Given the description of an element on the screen output the (x, y) to click on. 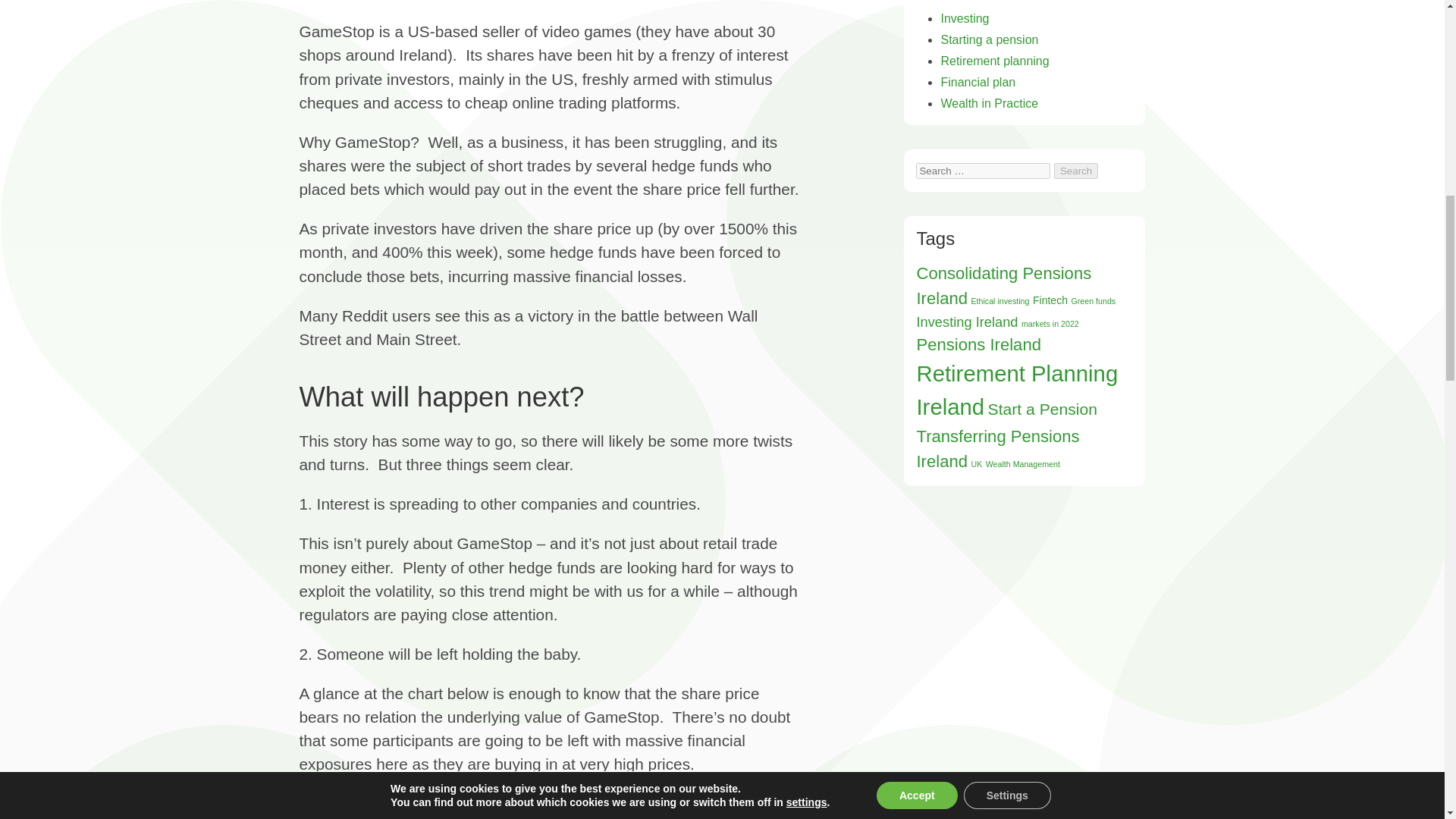
Search (1075, 170)
Search (1075, 170)
